Given the description of an element on the screen output the (x, y) to click on. 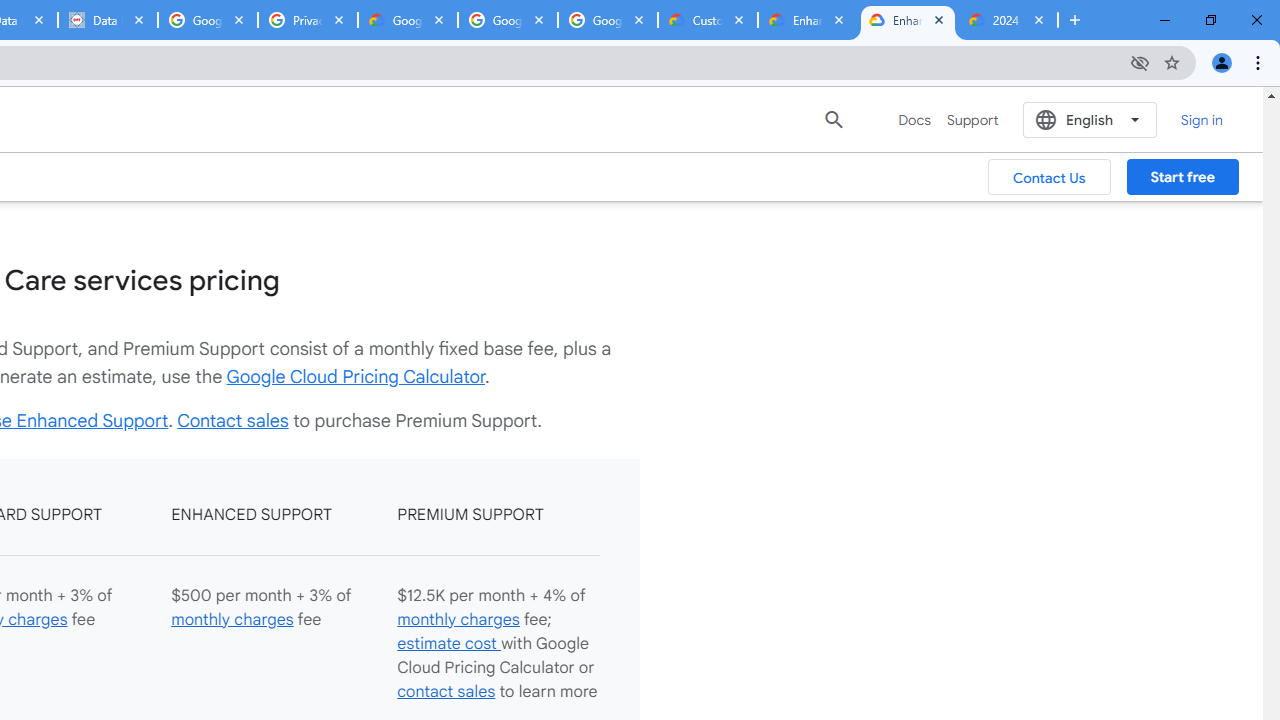
Google Cloud Terms Directory | Google Cloud (408, 20)
Enhanced Support | Google Cloud (807, 20)
New Tab (1075, 20)
Sign in (1201, 119)
Start free (1182, 177)
Docs (914, 119)
Third-party cookies blocked (1139, 62)
Customer Care | Google Cloud (707, 20)
estimate cost  (448, 642)
Minimize (1165, 20)
Enhanced Support | Google Cloud (907, 20)
Data Privacy Framework (107, 20)
Google Workspace - Specific Terms (508, 20)
Contact Us (1049, 177)
